Given the description of an element on the screen output the (x, y) to click on. 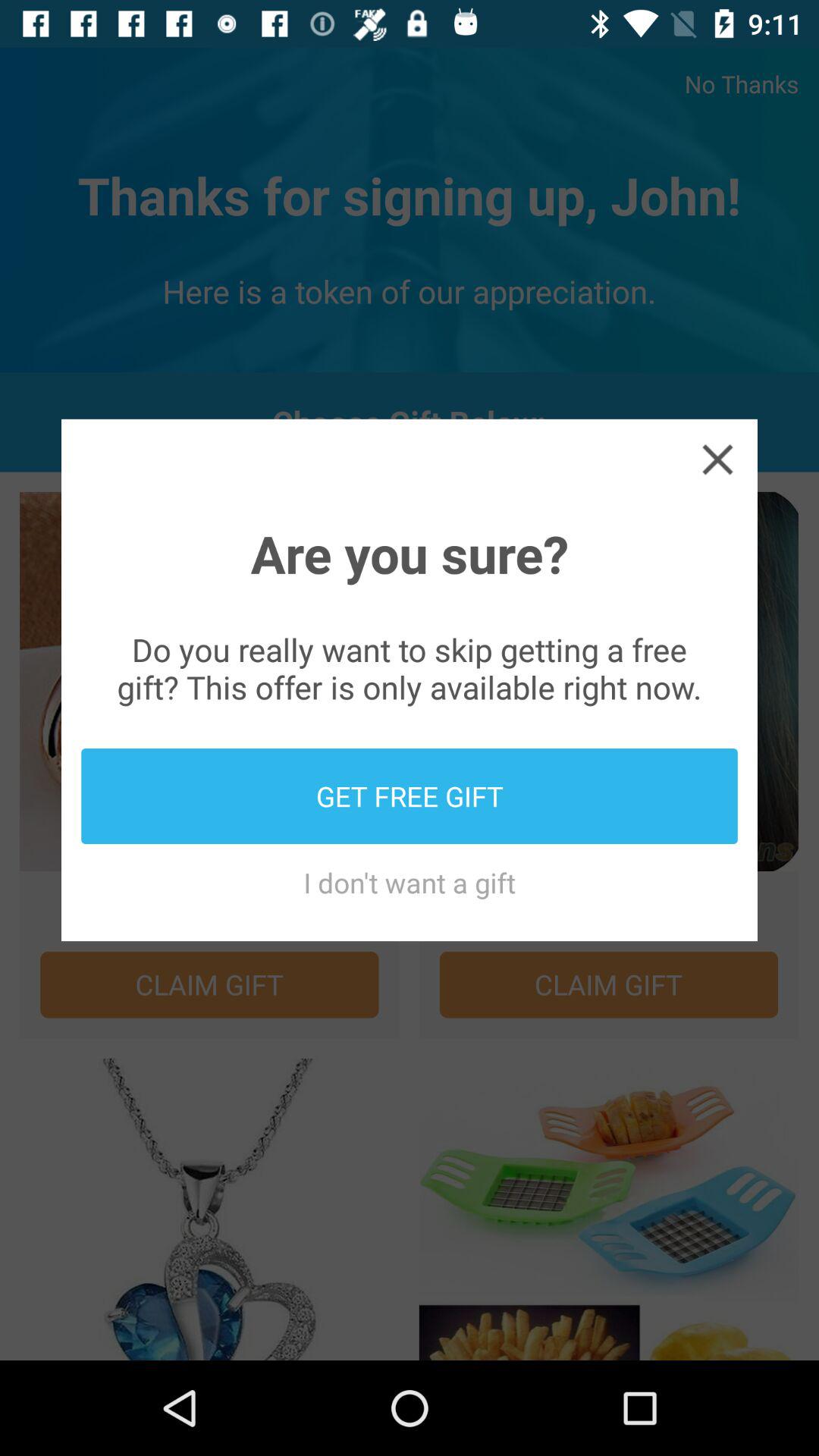
turn off i don t (409, 882)
